Given the description of an element on the screen output the (x, y) to click on. 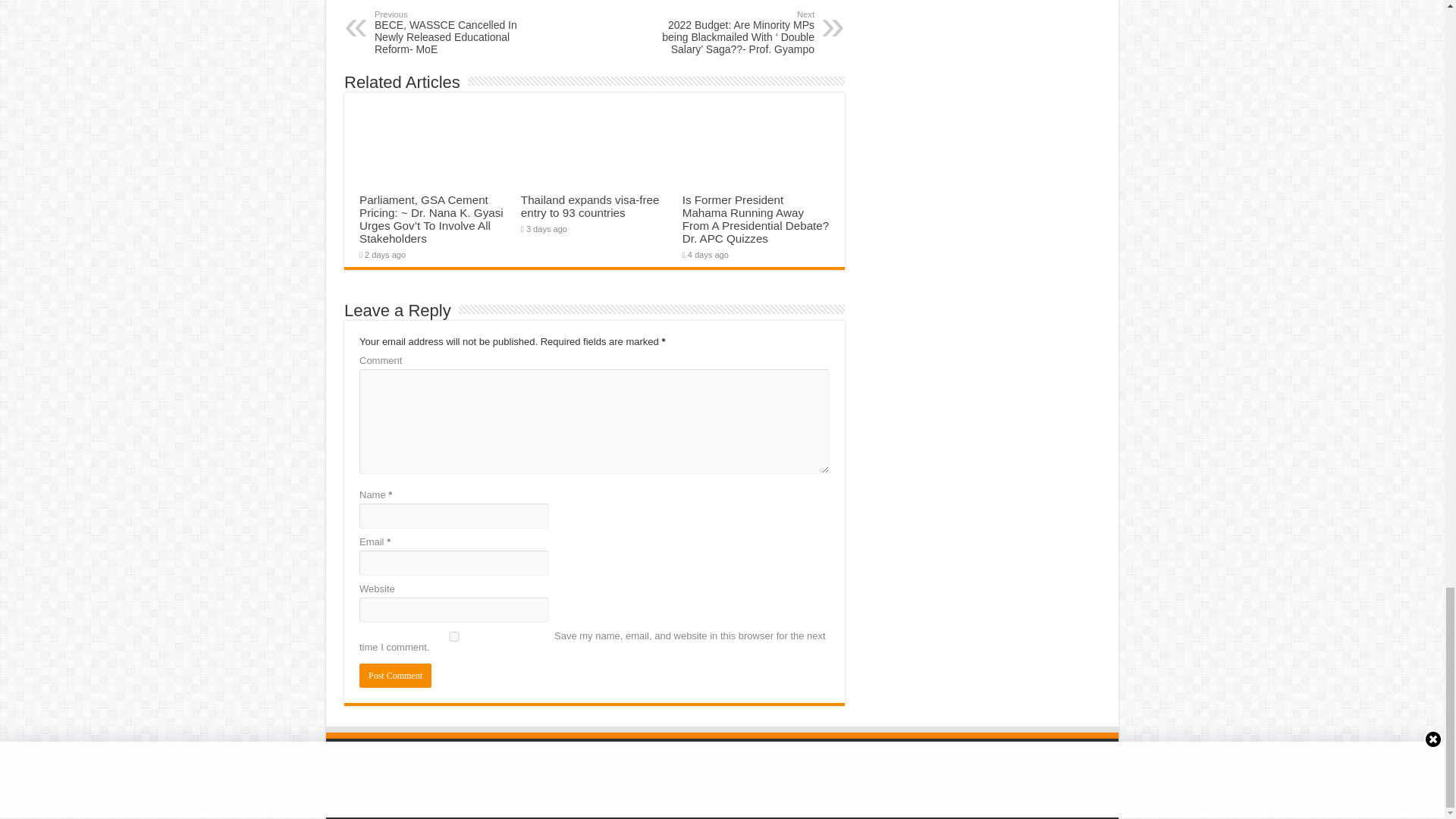
Post Comment (394, 675)
yes (453, 636)
